Given the description of an element on the screen output the (x, y) to click on. 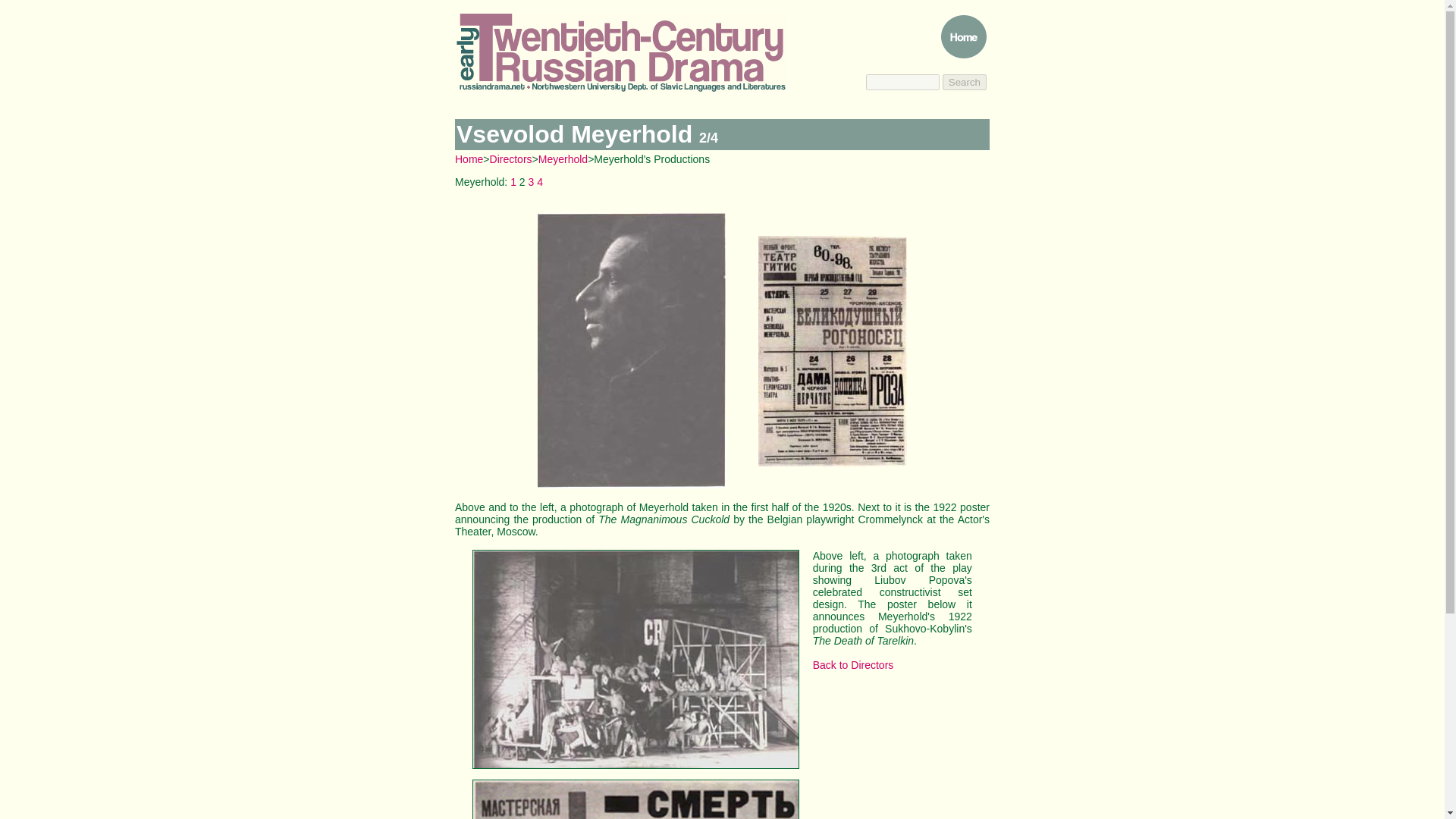
Search (964, 82)
Meyerhold (563, 159)
Directors (510, 159)
Home (468, 159)
Back to Directors (852, 664)
Search (964, 82)
